Given the description of an element on the screen output the (x, y) to click on. 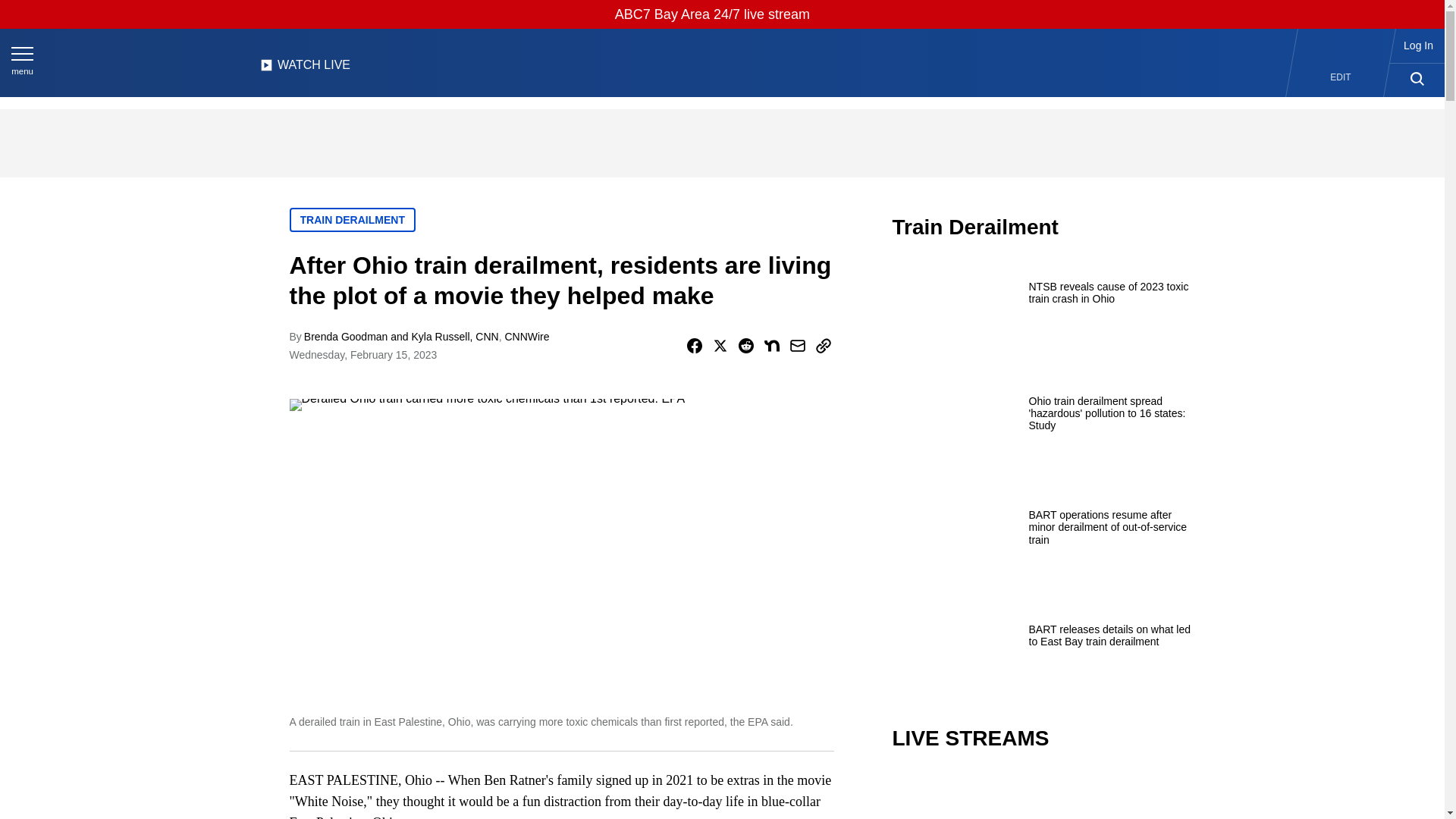
EDIT (1340, 77)
video.title (1043, 796)
WATCH LIVE (305, 69)
